Given the description of an element on the screen output the (x, y) to click on. 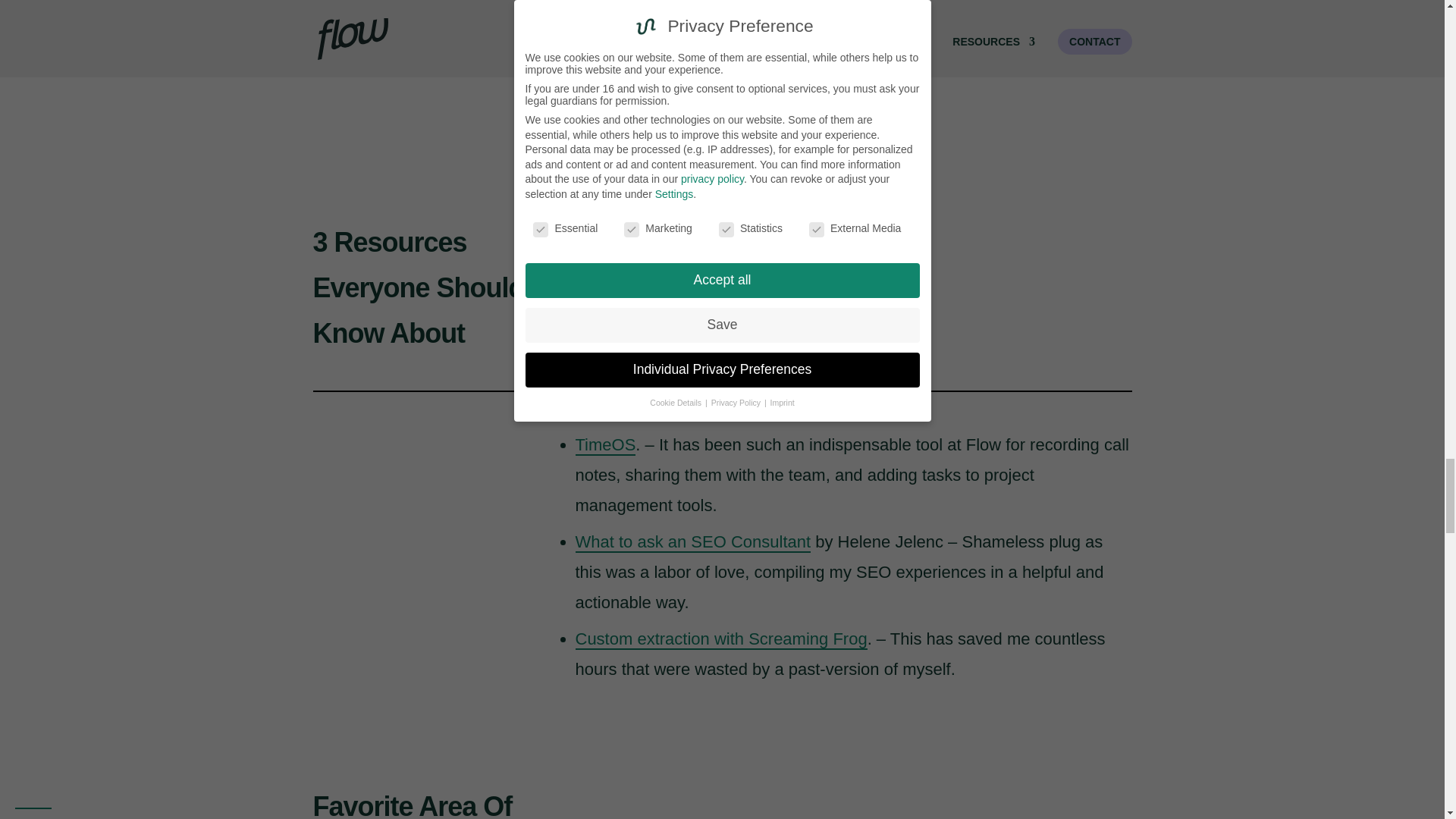
1 (860, 68)
